Given the description of an element on the screen output the (x, y) to click on. 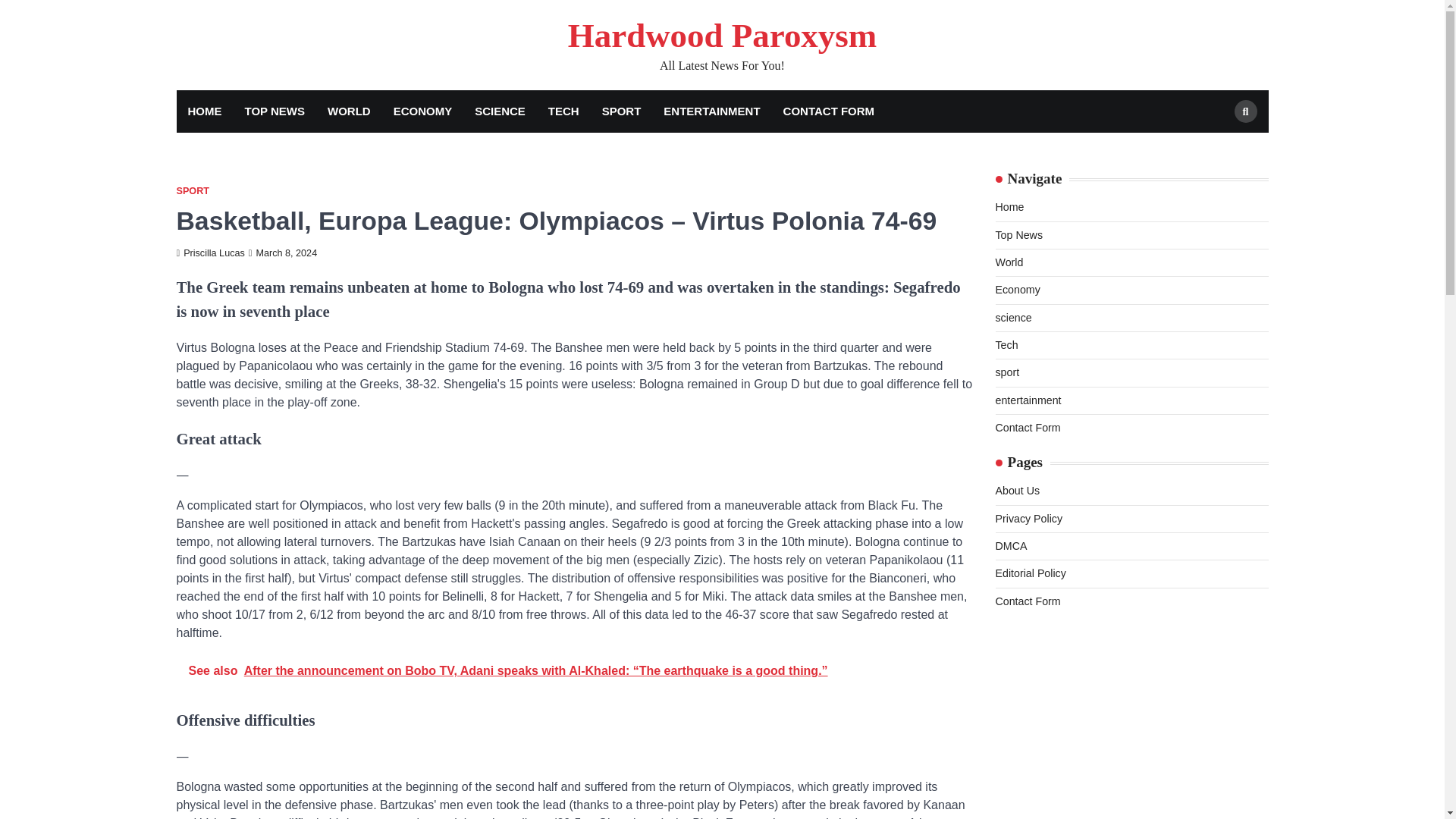
Top News (1018, 234)
science (1012, 317)
World (1008, 262)
Privacy Policy (1028, 518)
entertainment (1027, 399)
Search (1217, 146)
HOME (204, 111)
Home (1008, 206)
About Us (1016, 490)
Search (1245, 110)
